Given the description of an element on the screen output the (x, y) to click on. 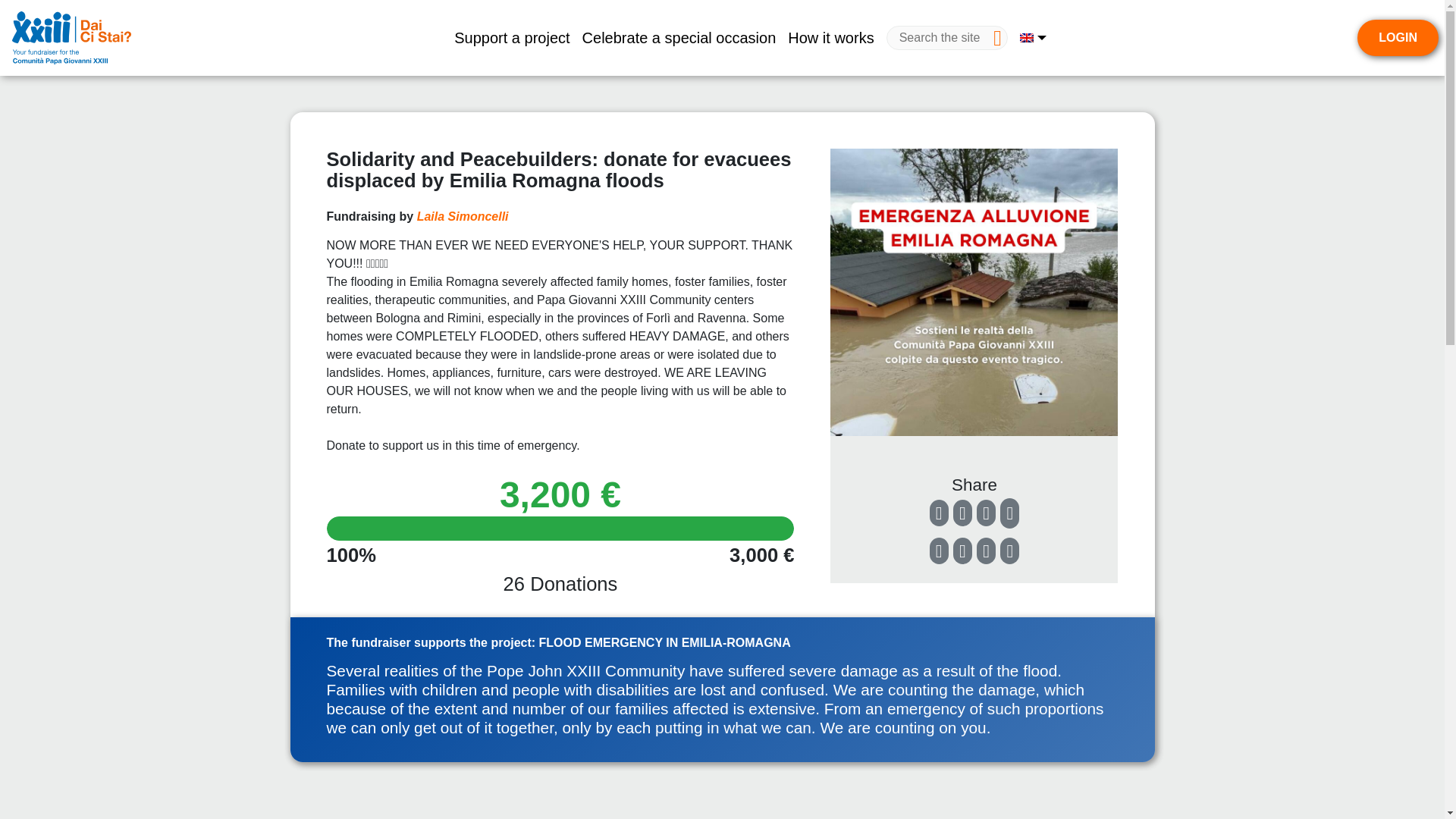
LOGIN (1397, 37)
Support a project (511, 37)
Laila Simoncelli (462, 215)
Celebrate a special occasion (679, 37)
How it works (830, 37)
How it works (830, 37)
Celebrate a special occasion (679, 37)
FLOOD EMERGENCY IN EMILIA-ROMAGNA (664, 642)
Support a project (511, 37)
